Given the description of an element on the screen output the (x, y) to click on. 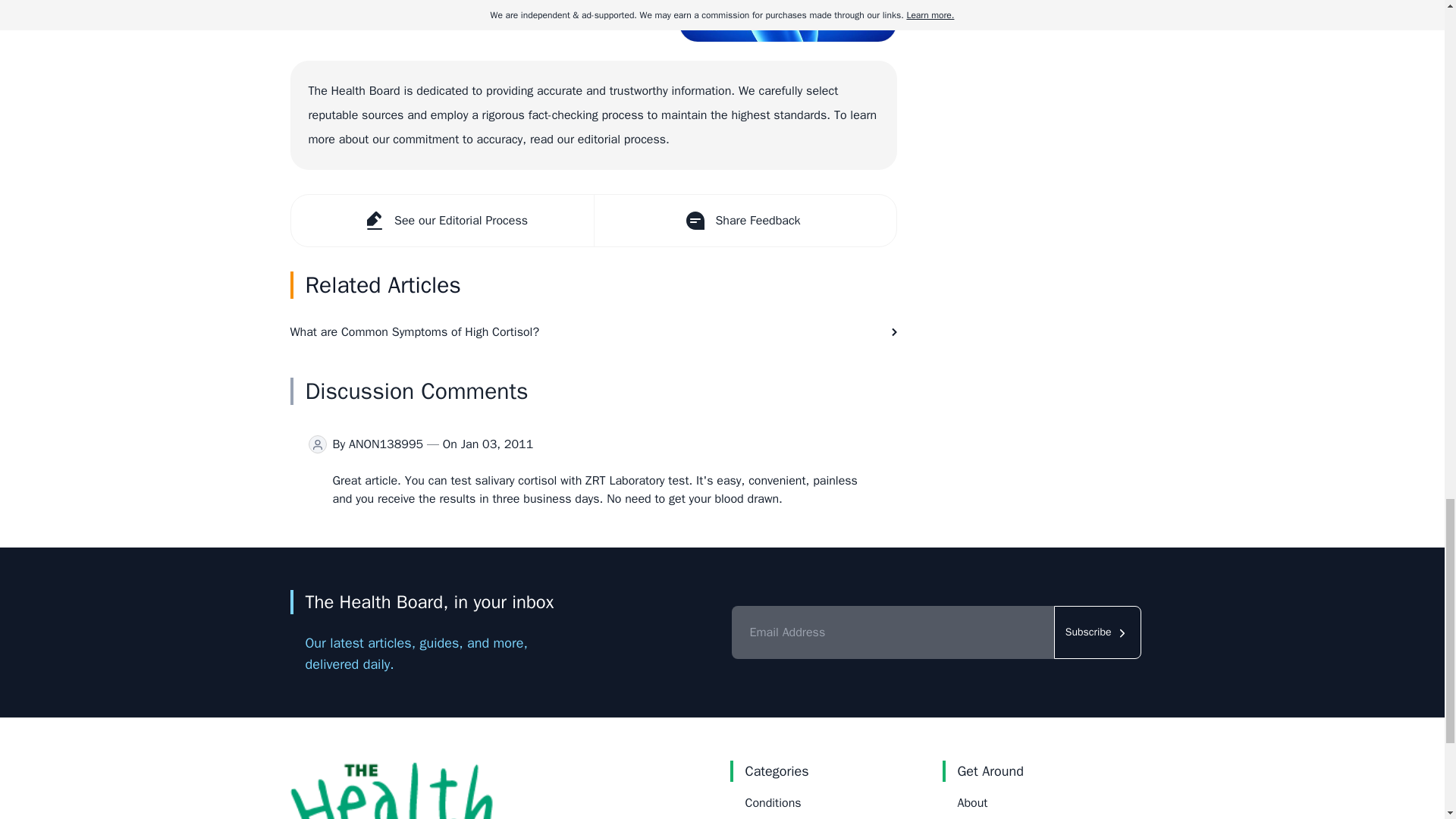
Subscribe (1097, 632)
Conditions (772, 802)
See our Editorial Process (442, 220)
Share Feedback (743, 220)
What are Common Symptoms of High Cortisol? (592, 331)
